Given the description of an element on the screen output the (x, y) to click on. 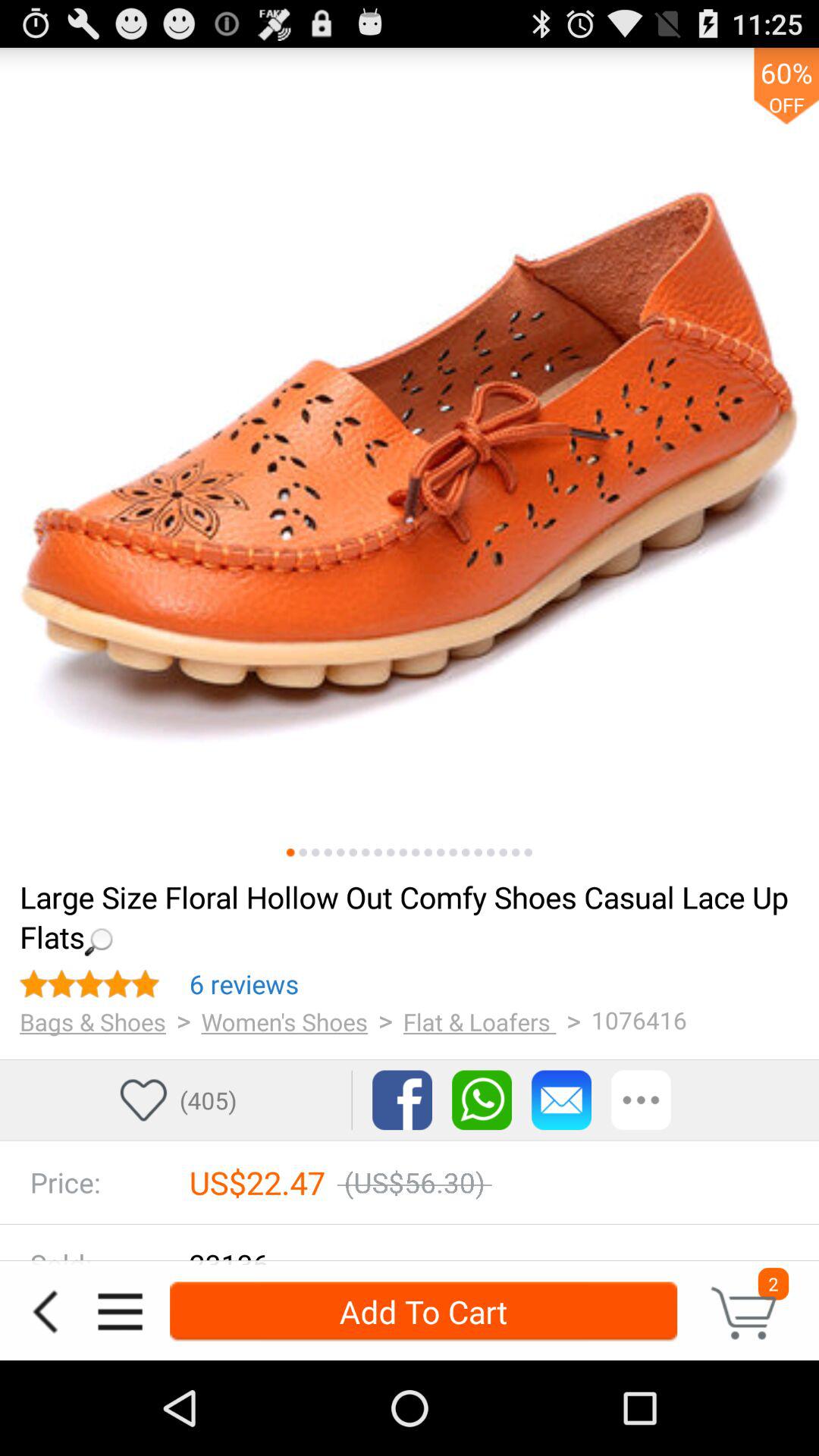
press item above loading... icon (315, 852)
